Given the description of an element on the screen output the (x, y) to click on. 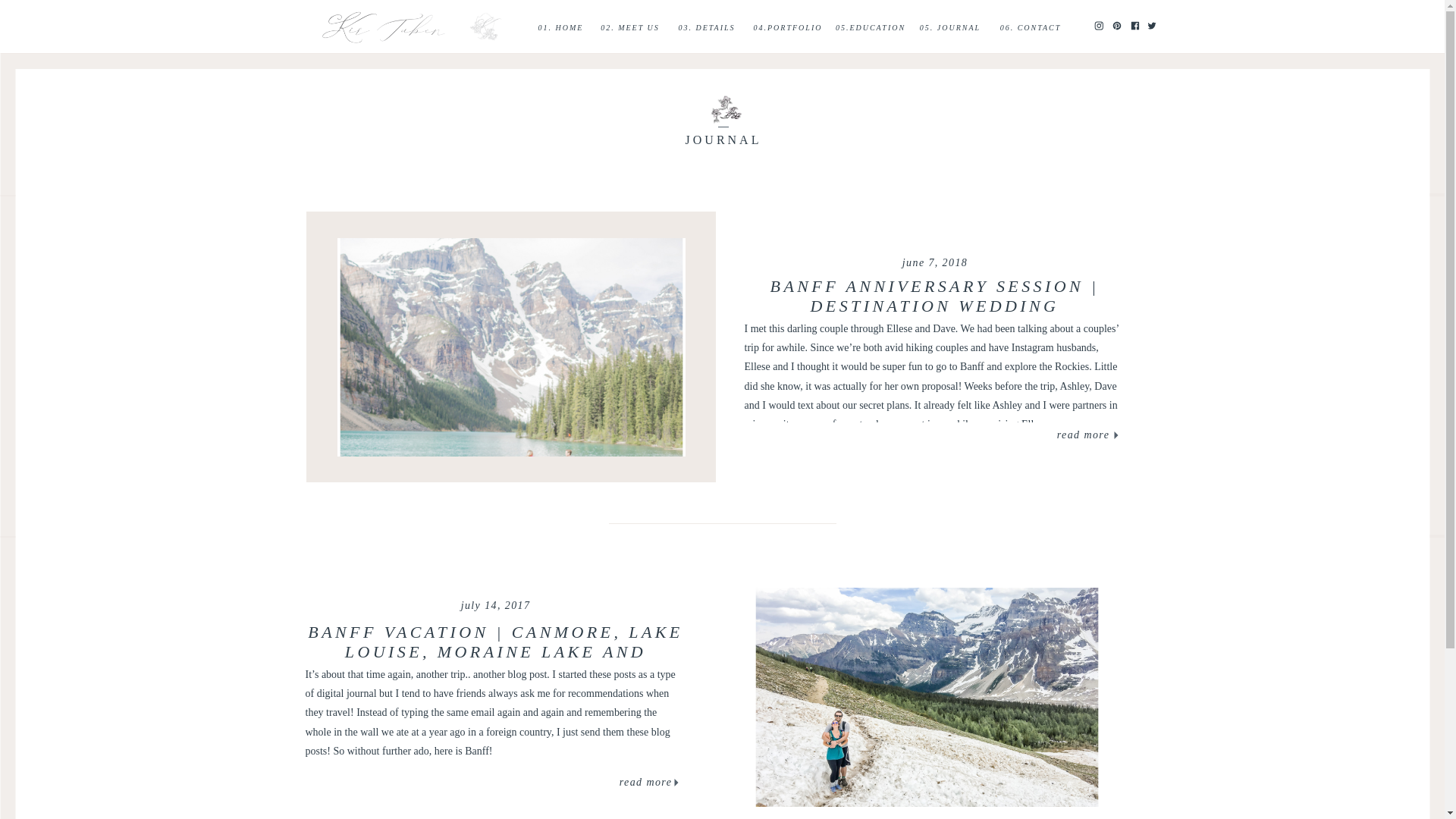
02. MEET US (629, 27)
06. CONTACT (1029, 27)
Facebook Copy-color Created with Sketch. (1133, 24)
03. DETAILS (706, 27)
Instagram-color Created with Sketch. (1097, 25)
read more (646, 783)
01. HOME (560, 27)
read more (1083, 436)
Instagram-color Created with Sketch. (1097, 24)
05.EDUCATION (870, 27)
